Given the description of an element on the screen output the (x, y) to click on. 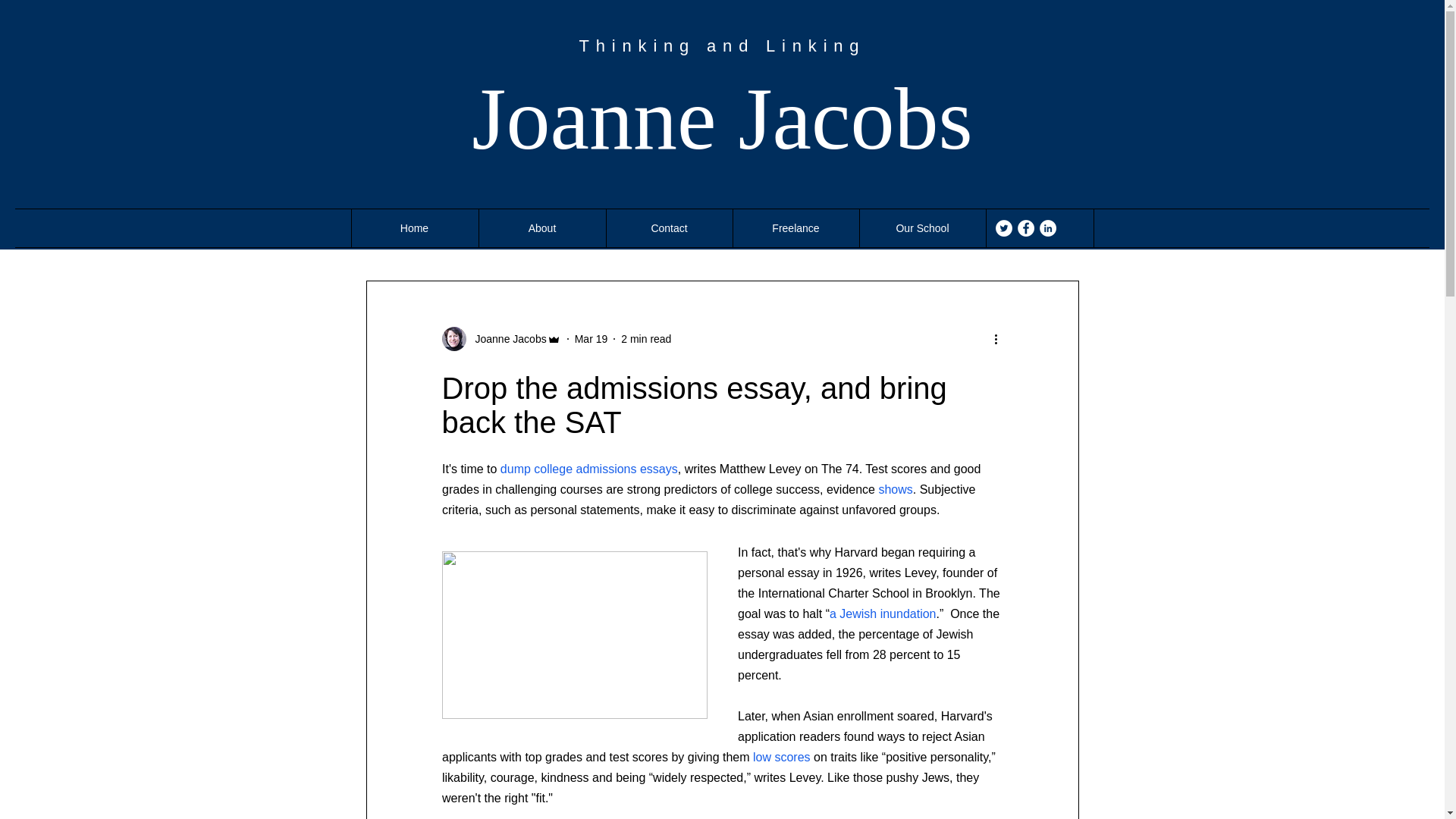
shows (894, 488)
low scores (780, 756)
Freelance (795, 228)
Home (413, 228)
About (541, 228)
2 min read (646, 337)
Our School (922, 228)
Mar 19 (591, 337)
dump college admissions essays (588, 468)
a Jewish inundation (882, 613)
Joanne Jacobs (721, 118)
Contact (668, 228)
Joanne Jacobs (505, 338)
